Given the description of an element on the screen output the (x, y) to click on. 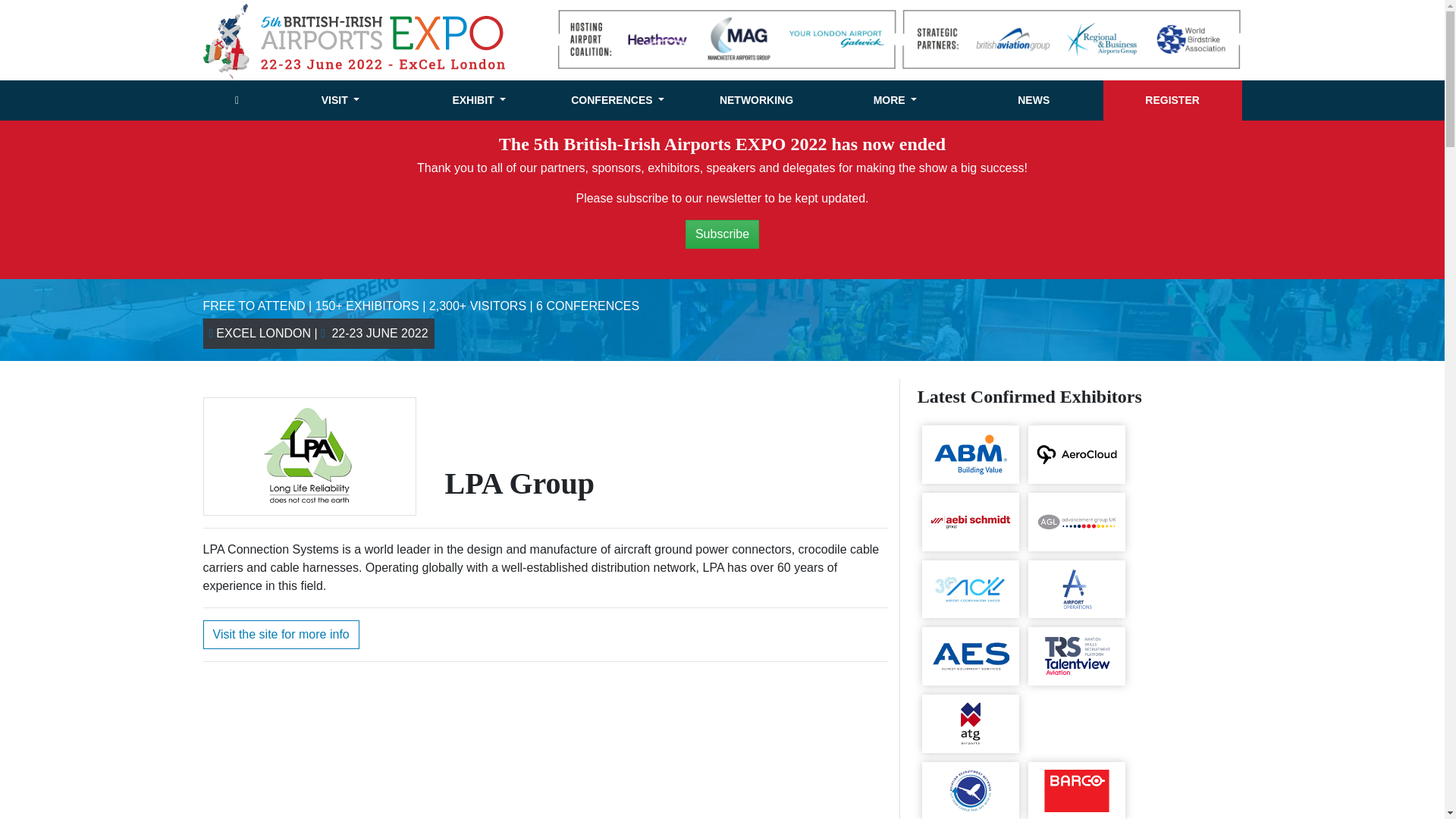
NEWS (1033, 100)
Subscribe (721, 234)
CONFERENCES (617, 100)
British-Irish Airports EXPO (354, 40)
REGISTER (1172, 100)
VISIT (340, 100)
MORE (894, 100)
NETWORKING (756, 100)
EXHIBIT (478, 100)
Visit the site for more info (281, 634)
